Given the description of an element on the screen output the (x, y) to click on. 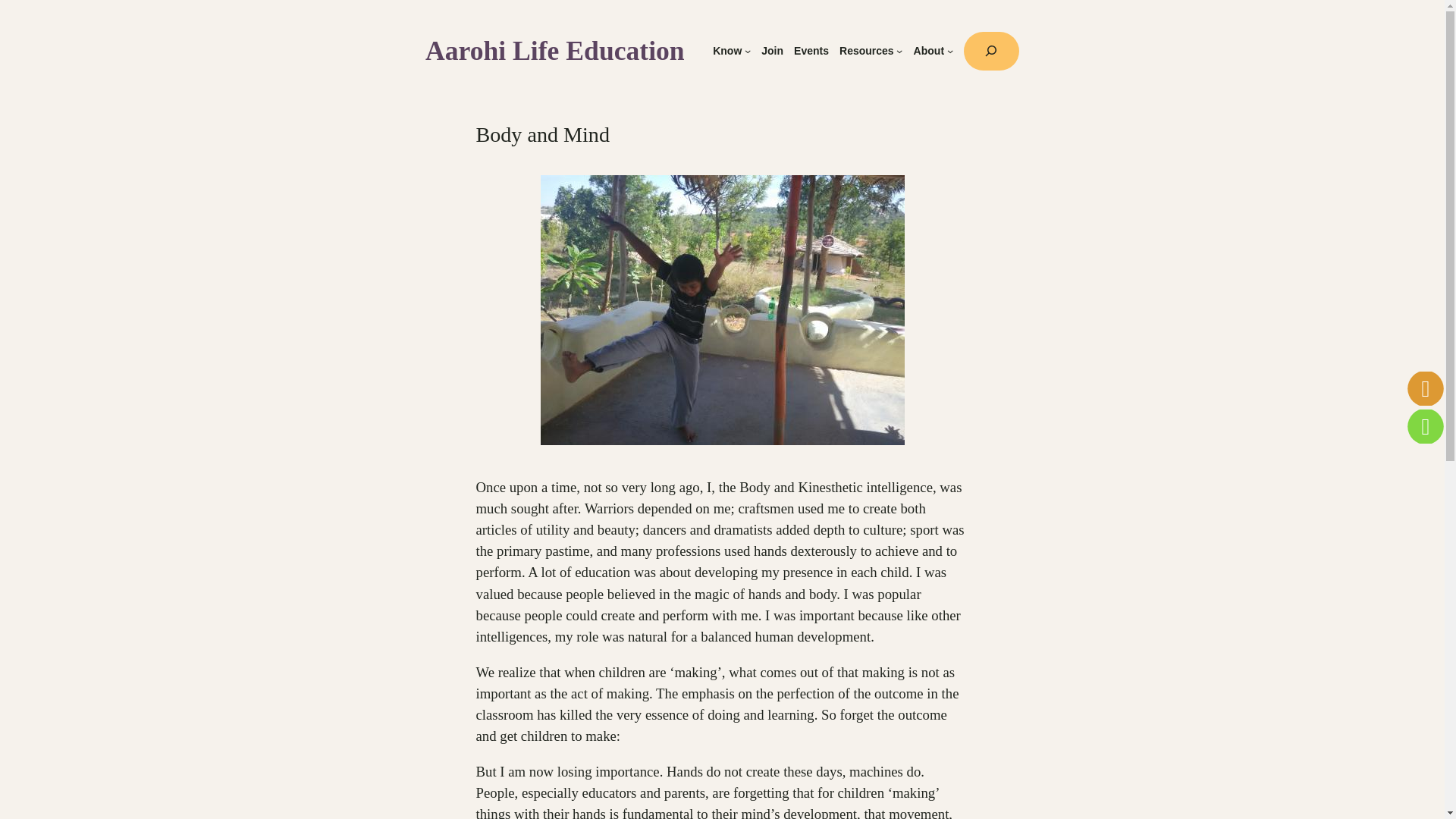
Join (772, 50)
Events (810, 50)
Aarohi Life Education (554, 51)
About (928, 50)
Know (727, 50)
Resources (866, 50)
